Given the description of an element on the screen output the (x, y) to click on. 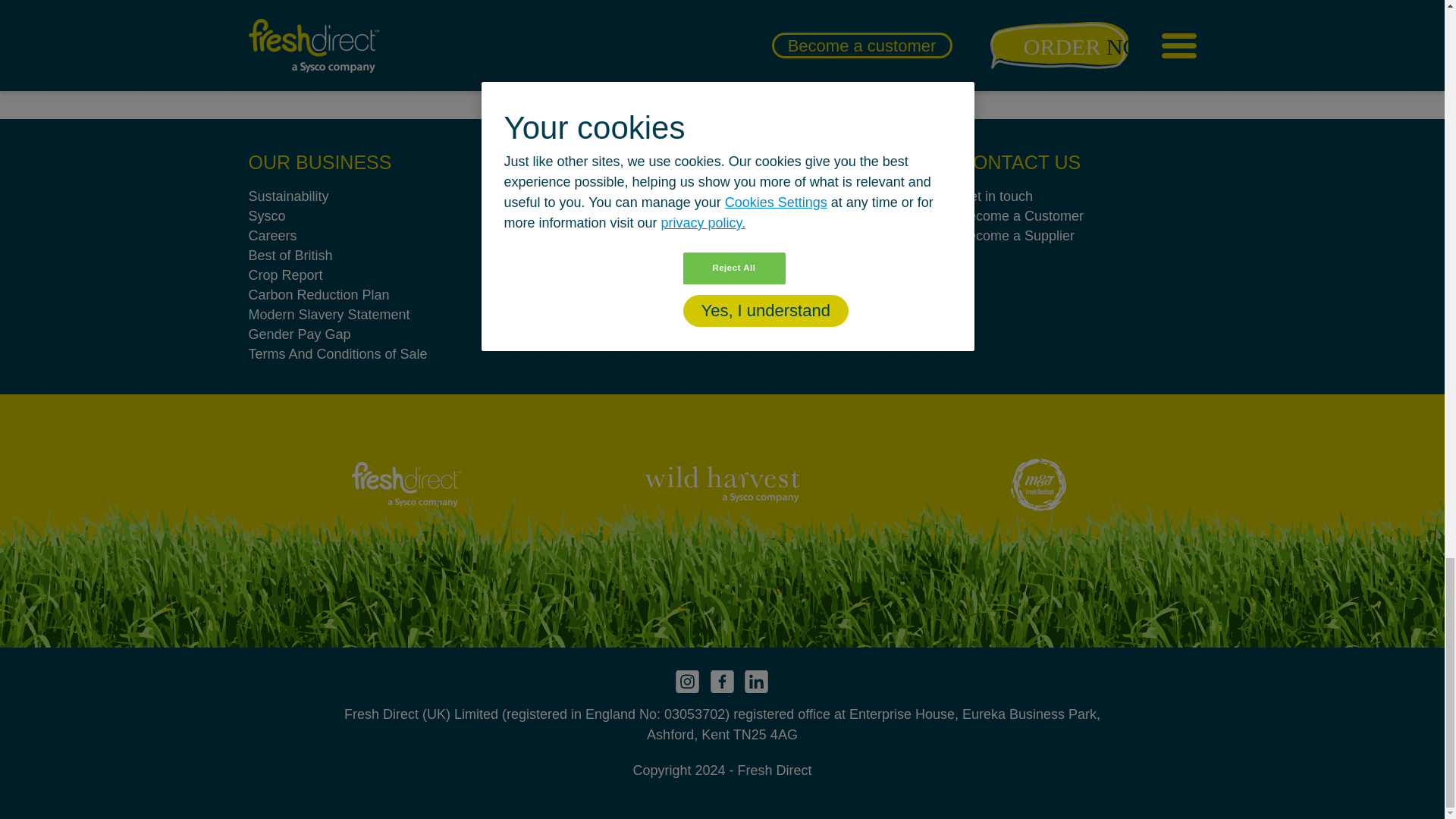
Sustainability (367, 196)
Crop Report (367, 275)
Wild Harvest (722, 484)
FreshDirect Speciality group on Instagram (687, 680)
Careers (367, 235)
Fresh Direct (603, 222)
Terms And Conditions of Sale (367, 353)
Carbon Reduction Plan (367, 294)
FreshDirect Speciality group on Instagram (722, 680)
Sysco (367, 216)
Fresh Direct (406, 484)
Gender Pay Gap (367, 333)
Best of British (367, 255)
Modern Slavery Statement (367, 314)
FreshDirect Speciality group on LinkedIn (757, 680)
